Given the description of an element on the screen output the (x, y) to click on. 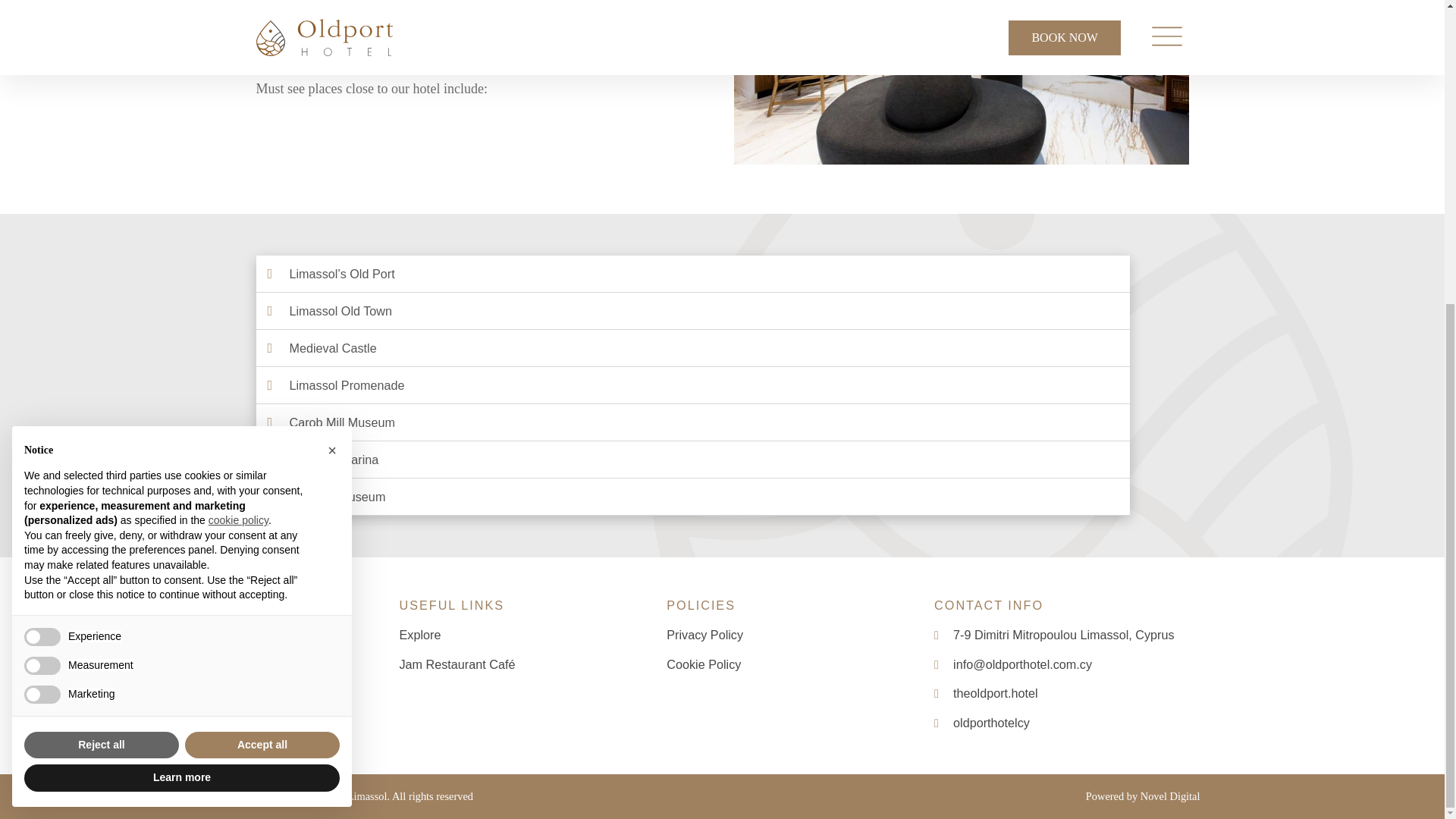
Reject all (101, 268)
oldporthotelcy (1053, 723)
Limassol Marina (333, 459)
Cookie Policy (704, 664)
Learn more (181, 301)
Accept all (261, 268)
false (42, 218)
Novel Digital (1169, 796)
Medieval Castle (333, 347)
cookie policy (237, 43)
